Given the description of an element on the screen output the (x, y) to click on. 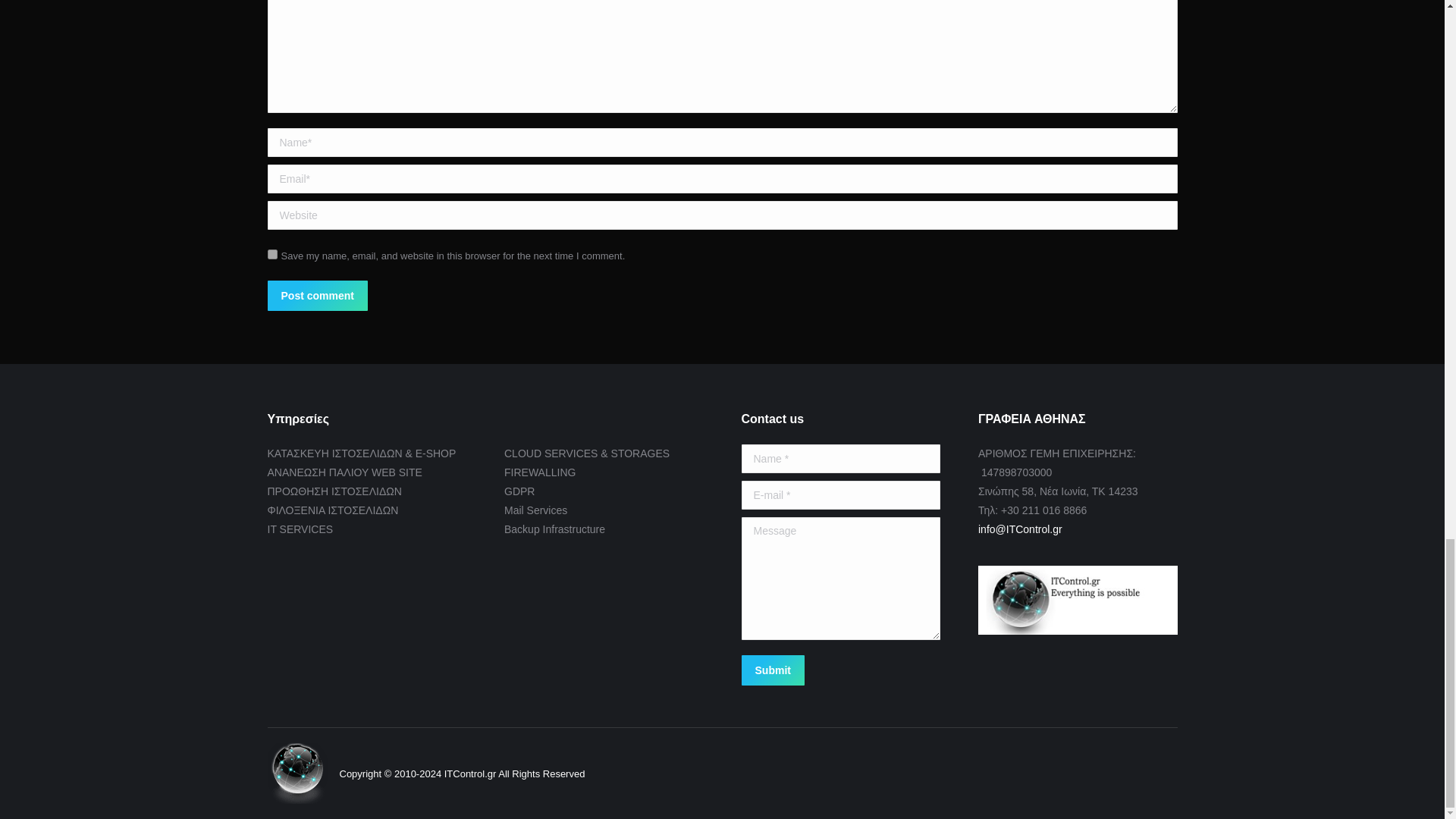
submit (844, 671)
yes (271, 254)
